Given the description of an element on the screen output the (x, y) to click on. 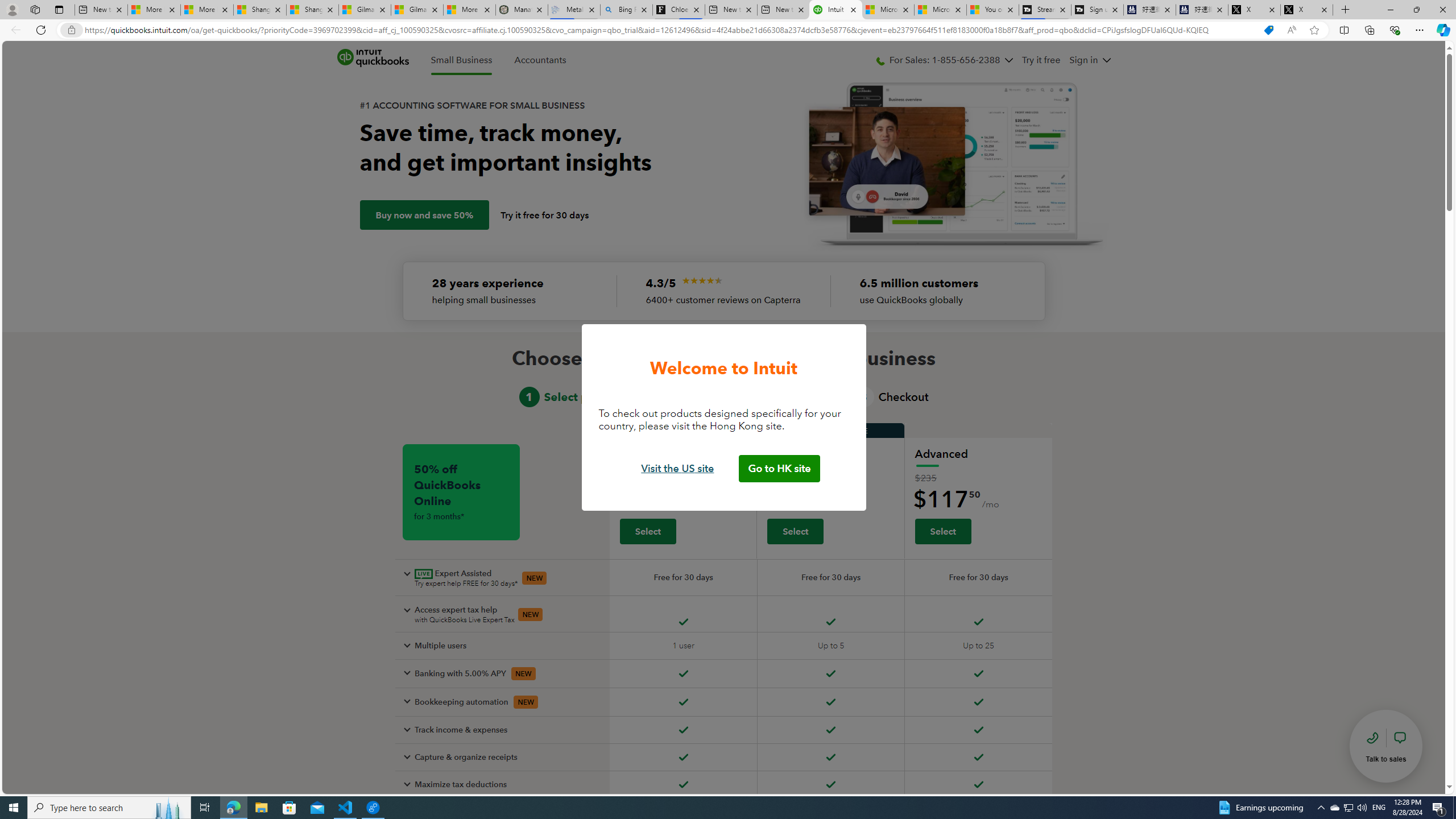
Select plus (795, 531)
Shanghai, China weather forecast | Microsoft Weather (312, 9)
Accountants (539, 60)
For Sales: 1-855-656-2388 (944, 60)
Try it free (1041, 60)
Class: MenuItem_dDown__f585abf6 MenuItem_white__f585abf6 (1106, 60)
Bing Real Estate - Home sales and rental listings (626, 9)
Gilma and Hector both pose tropical trouble for Hawaii (416, 9)
Chloe Sorvino (678, 9)
Streaming Coverage | T3 (1044, 9)
